Given the description of an element on the screen output the (x, y) to click on. 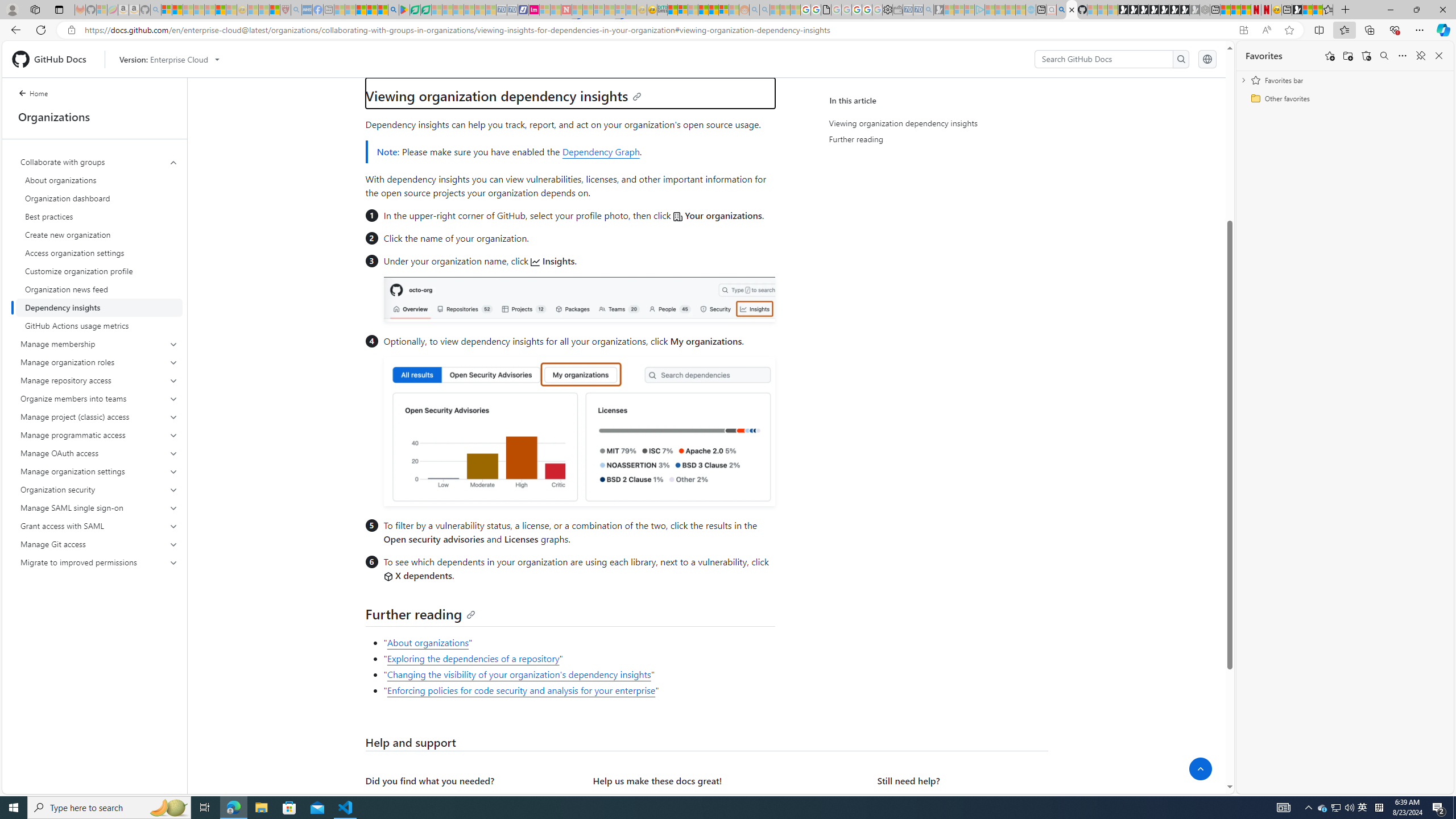
Local - MSN (274, 9)
Migrate to improved permissions (99, 562)
